Given the description of an element on the screen output the (x, y) to click on. 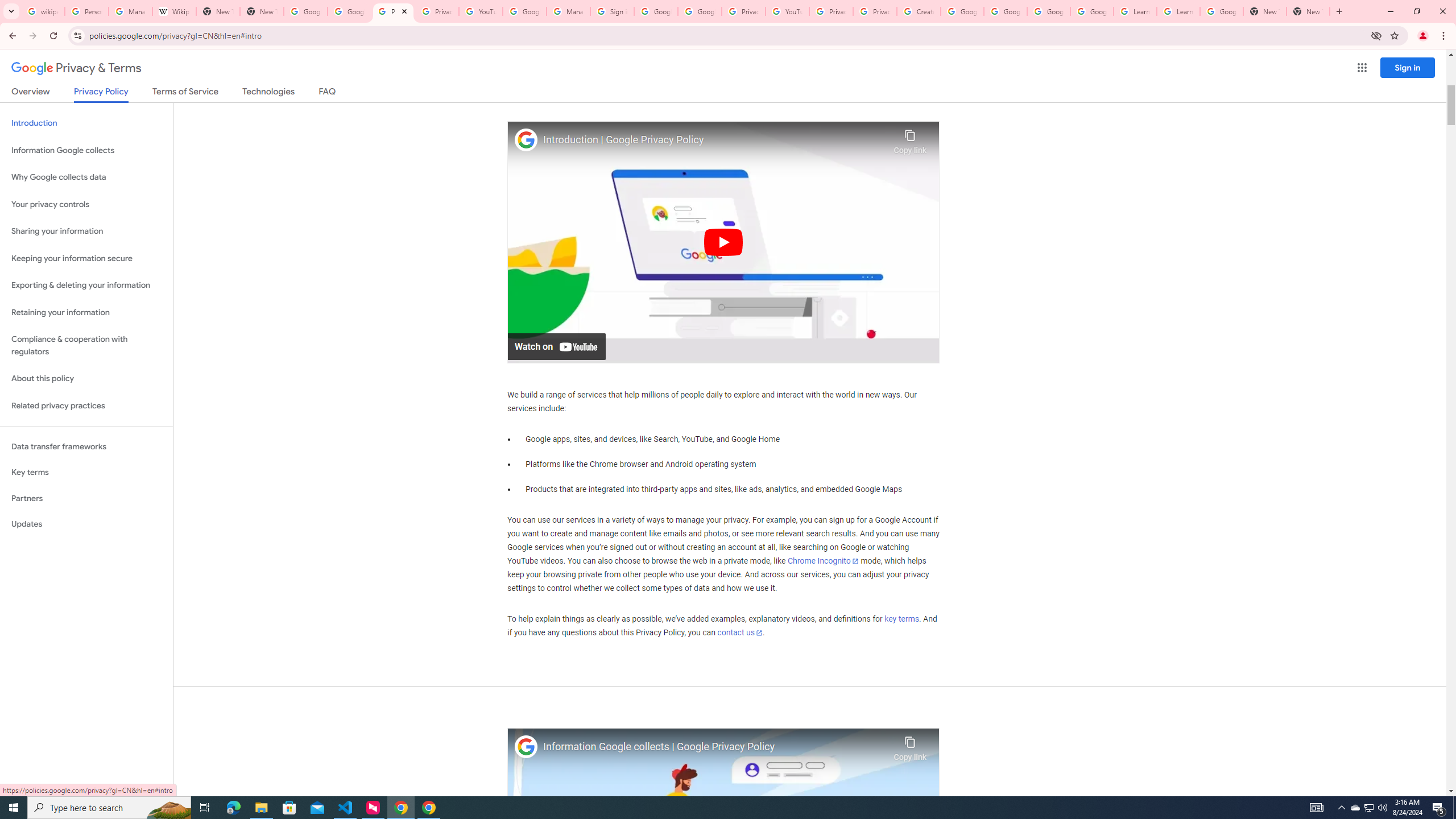
Manage your Location History - Google Search Help (130, 11)
